Given the description of an element on the screen output the (x, y) to click on. 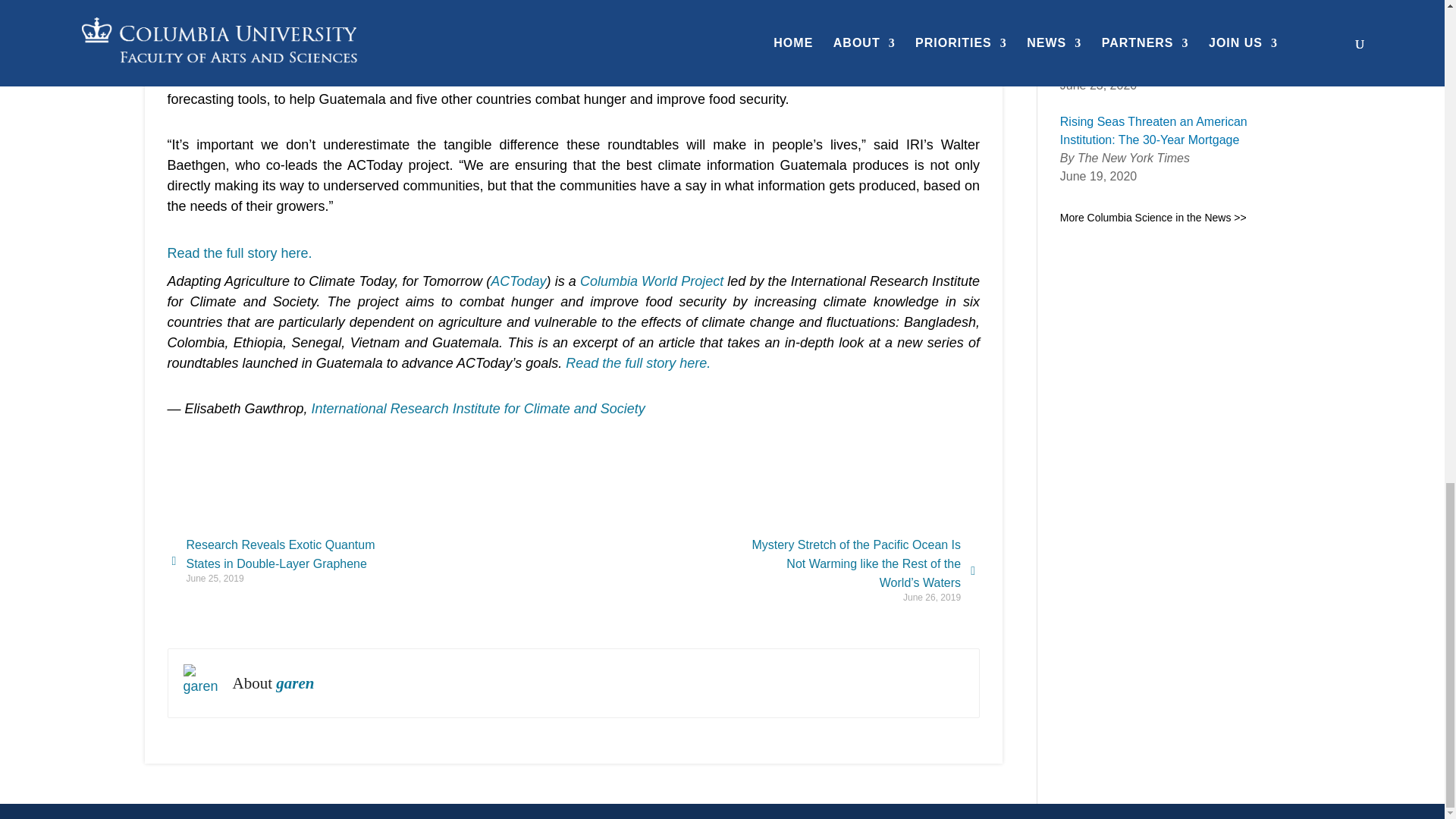
Read the full story here. (638, 363)
Columbia World Project (334, 78)
Read the full story here. (239, 253)
ACToday (199, 78)
garen (202, 682)
ACToday (518, 281)
Columbia World Project (651, 281)
